Given the description of an element on the screen output the (x, y) to click on. 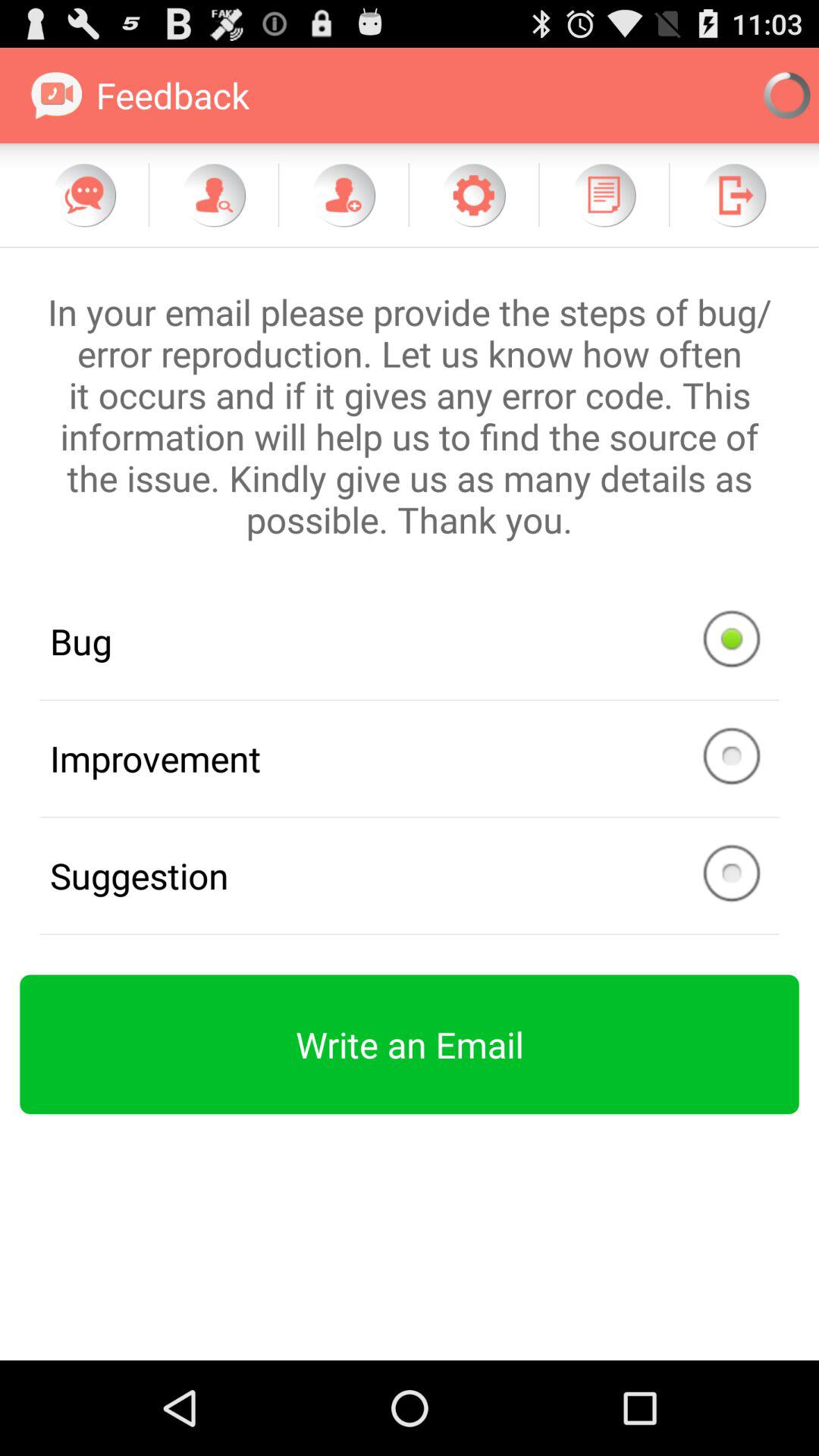
choose write an email button (409, 1044)
